Given the description of an element on the screen output the (x, y) to click on. 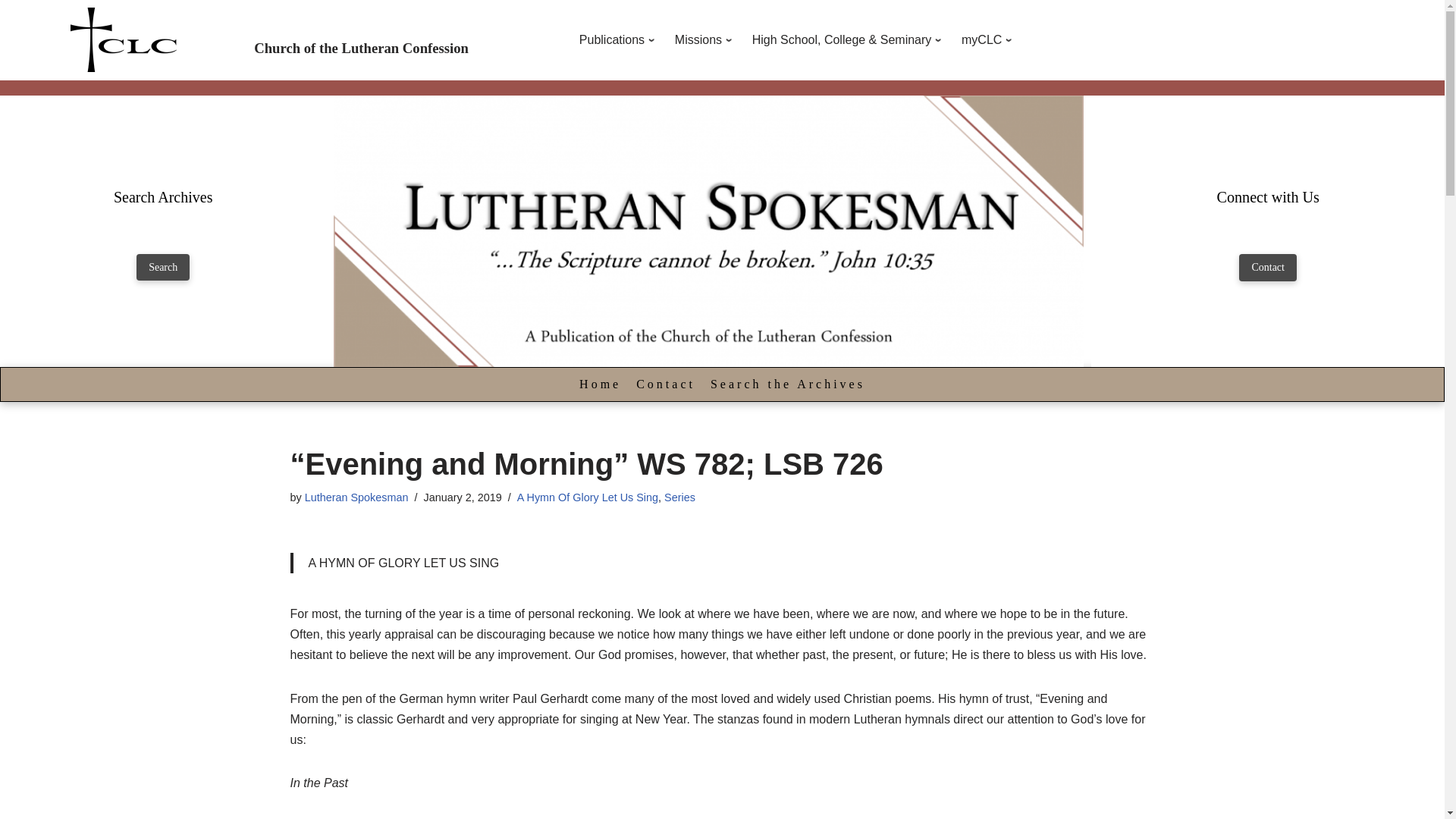
Contact (1268, 267)
Lutheran Spokesman (356, 497)
myCLC (989, 40)
Contact (664, 384)
Missions (706, 40)
A Hymn Of Glory Let Us Sing (587, 497)
Publications (619, 40)
Series (679, 497)
Home (599, 384)
Search (162, 267)
Search the Archives (787, 384)
